Given the description of an element on the screen output the (x, y) to click on. 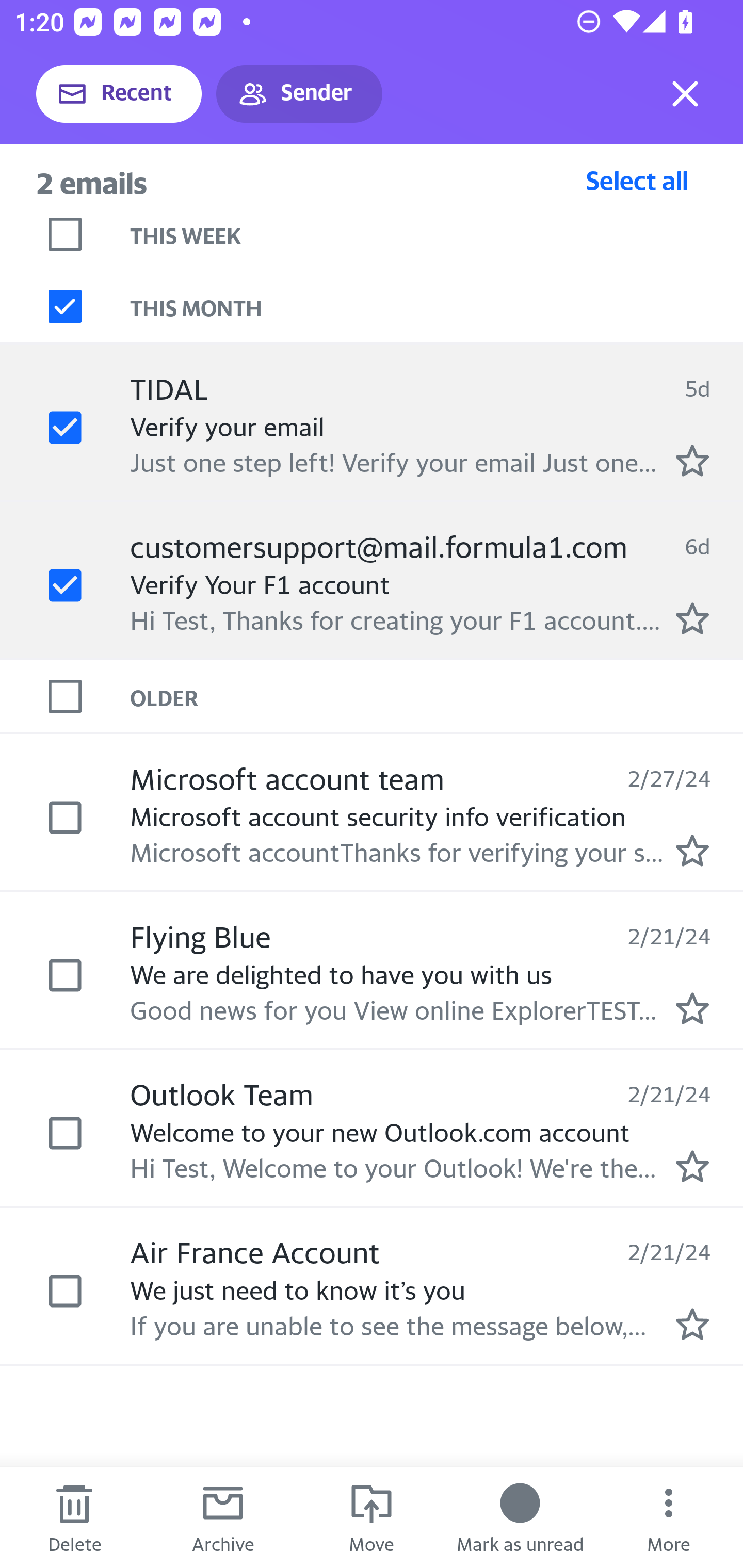
Sender (299, 93)
Exit selection mode (684, 93)
Select all (637, 180)
THIS MONTH (436, 306)
Mark as starred. (692, 460)
Mark as starred. (692, 618)
OLDER (436, 696)
Mark as starred. (692, 850)
Mark as starred. (692, 1008)
Mark as starred. (692, 1165)
Mark as starred. (692, 1324)
Delete (74, 1517)
Archive (222, 1517)
Move (371, 1517)
Mark as unread (519, 1517)
More (668, 1517)
